Given the description of an element on the screen output the (x, y) to click on. 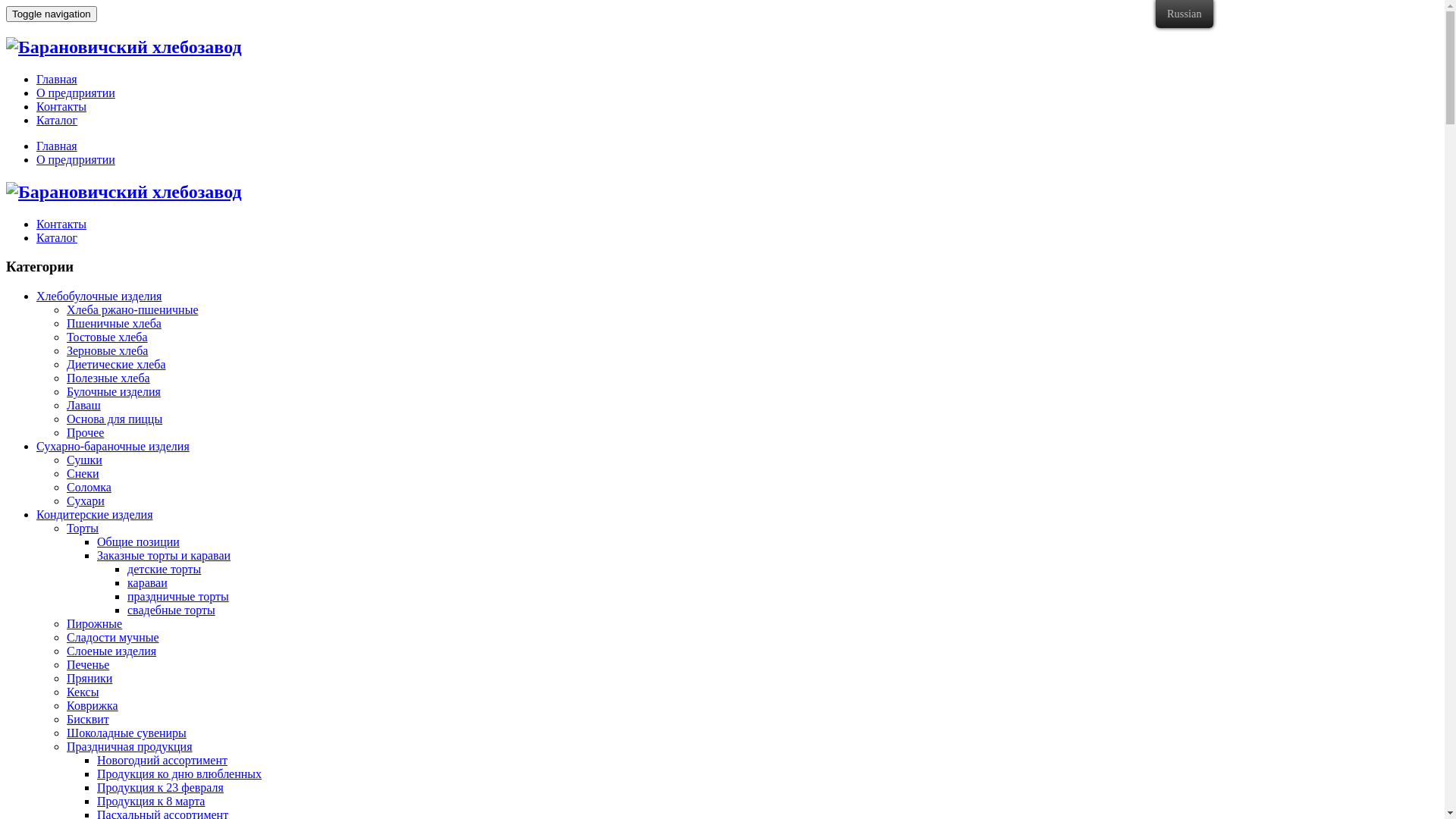
Russian Element type: text (1184, 14)
Toggle navigation Element type: text (51, 13)
